Given the description of an element on the screen output the (x, y) to click on. 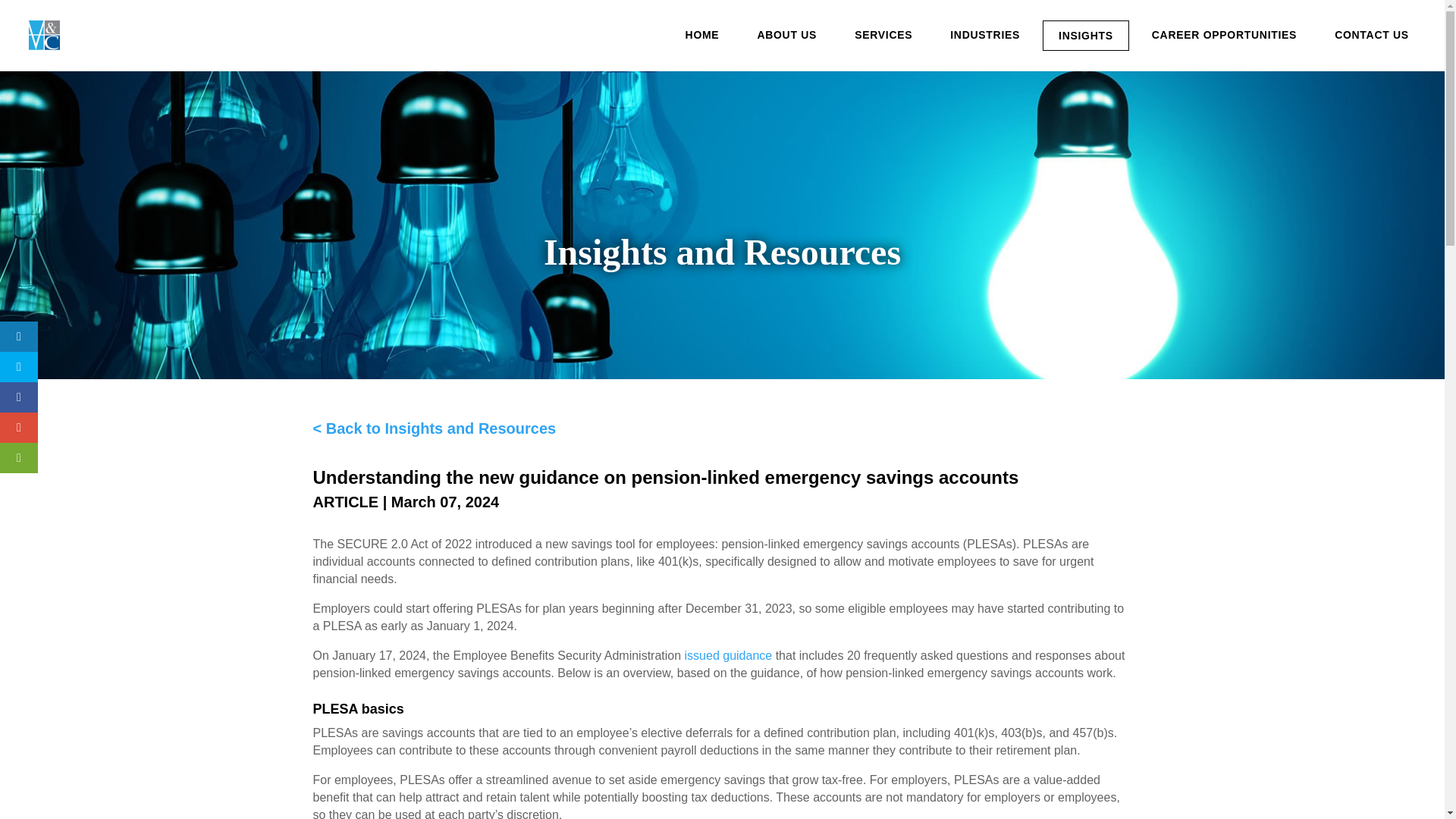
INSIGHTS (1085, 35)
issued guidance (728, 655)
HOME (702, 35)
ABOUT US (786, 35)
CONTACT US (1371, 35)
CAREER OPPORTUNITIES (1224, 35)
1418343712 (44, 34)
INDUSTRIES (984, 35)
SERVICES (883, 35)
